Given the description of an element on the screen output the (x, y) to click on. 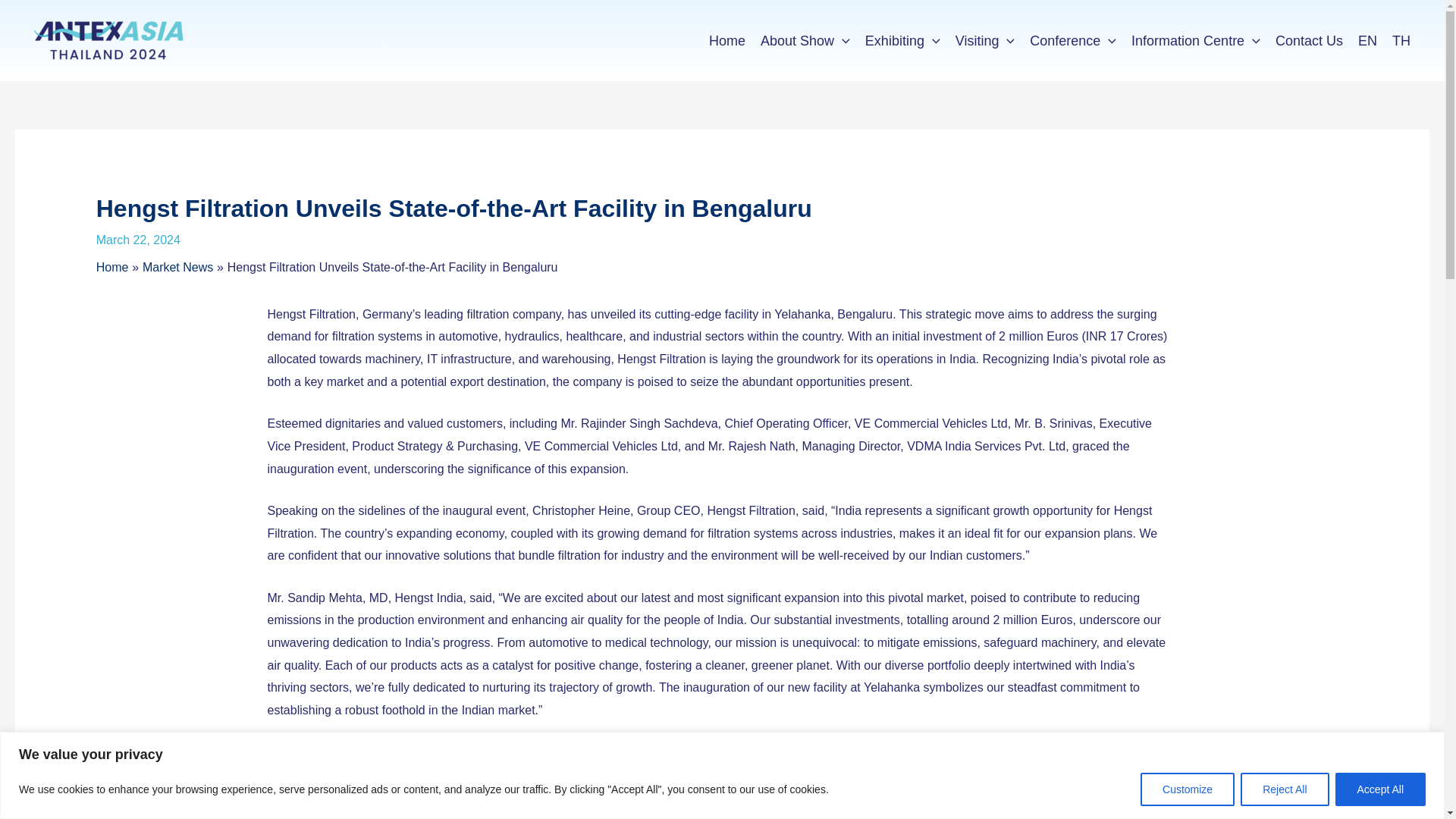
Visiting (985, 40)
Accept All (1380, 788)
About Show (804, 40)
Reject All (1283, 788)
Customize (1187, 788)
Exhibiting (902, 40)
Information Centre (1196, 40)
Conference (1073, 40)
